Given the description of an element on the screen output the (x, y) to click on. 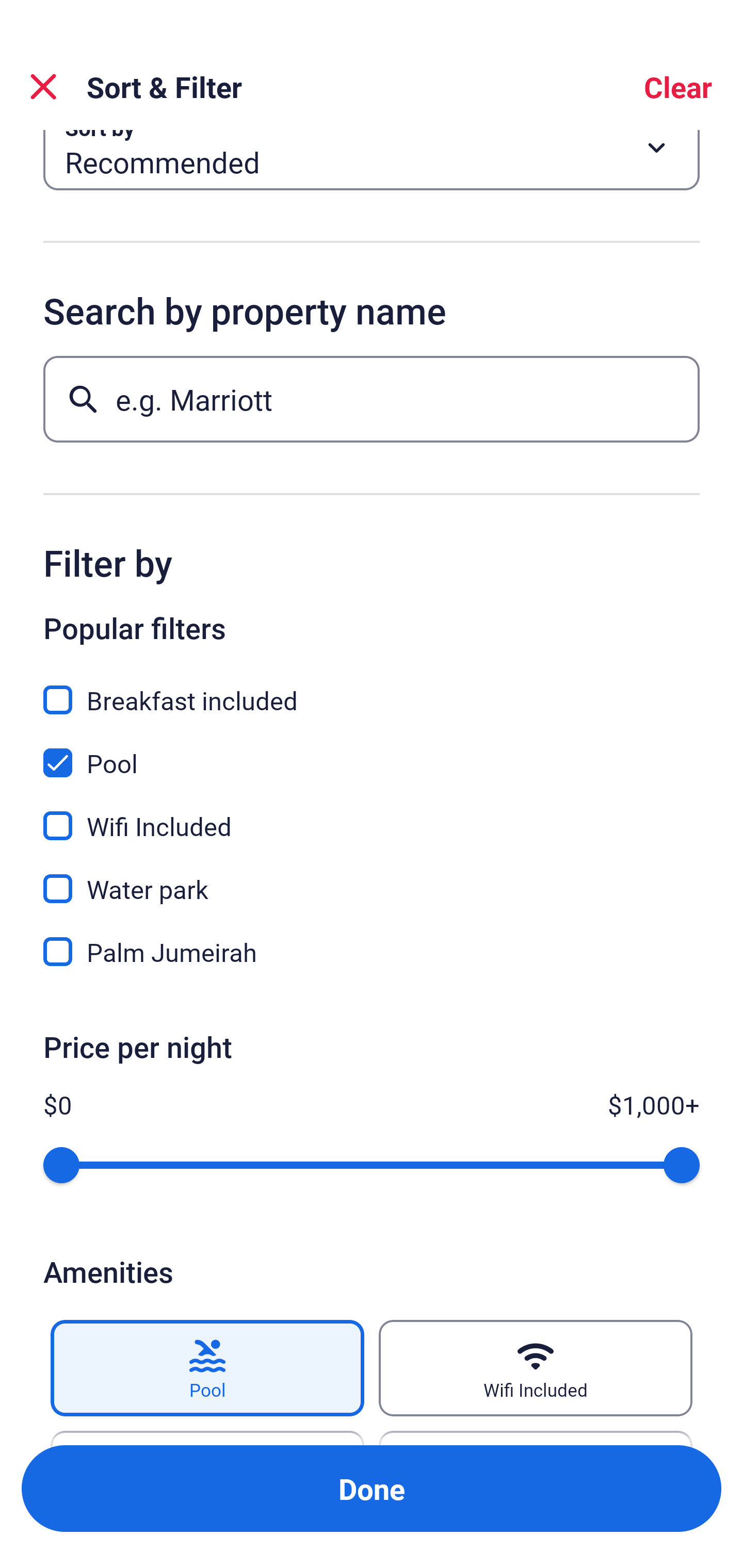
Close Sort and Filter (43, 86)
Clear (677, 86)
e.g. Marriott Button (371, 398)
Breakfast included, Breakfast included (371, 687)
Pool, Pool (371, 750)
Wifi Included, Wifi Included (371, 813)
Water park, Water park (371, 877)
Palm Jumeirah, Palm Jumeirah (371, 952)
Pool (207, 1367)
Wifi Included (535, 1367)
Apply and close Sort and Filter Done (371, 1488)
